Given the description of an element on the screen output the (x, y) to click on. 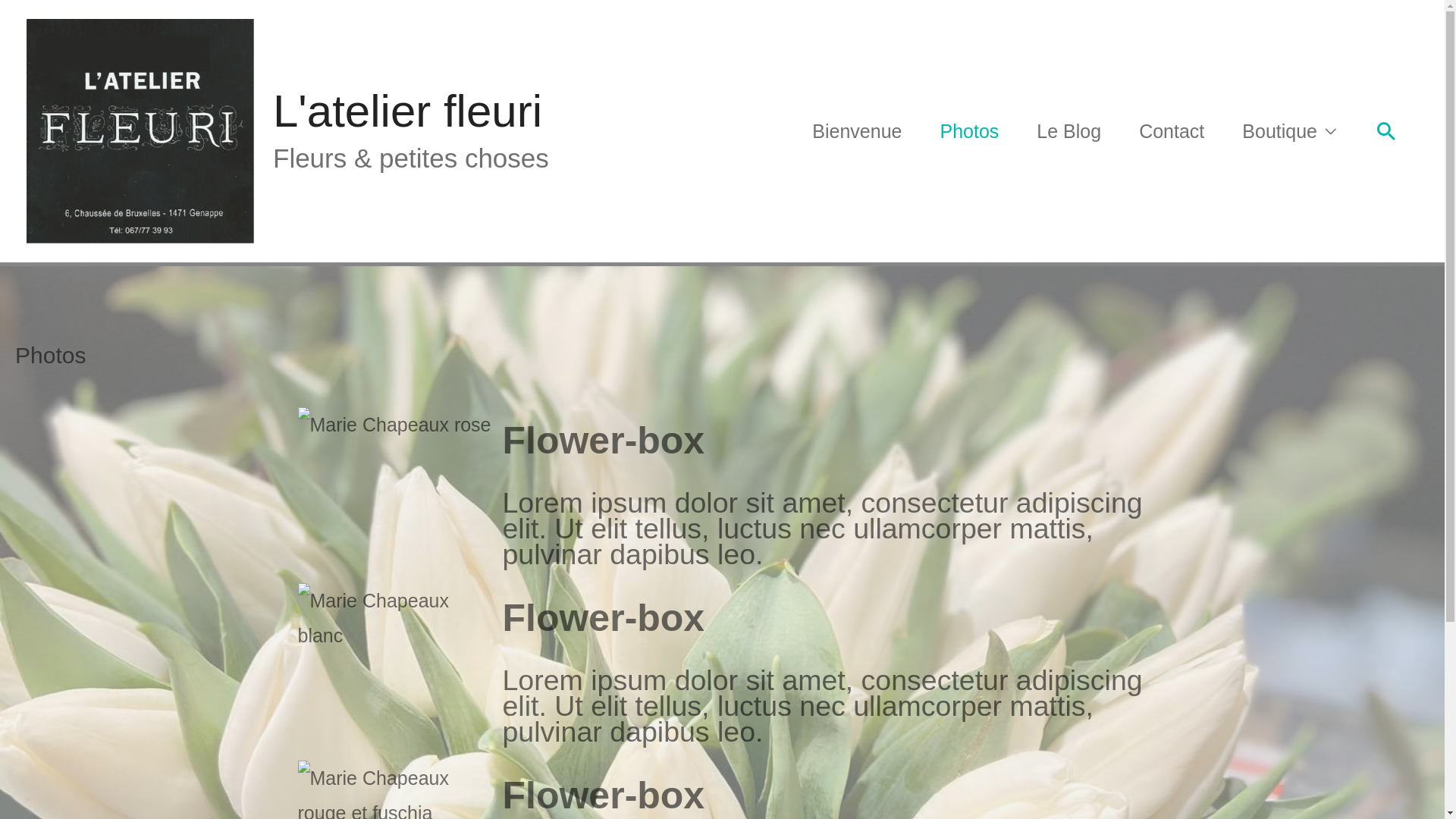
L'atelier fleuri Element type: text (407, 110)
Rechercher Element type: text (27, 19)
Boutique Element type: text (1289, 131)
Photos Element type: text (968, 131)
Le Blog Element type: text (1068, 131)
Bienvenue Element type: text (856, 131)
Contact Element type: text (1171, 131)
